Given the description of an element on the screen output the (x, y) to click on. 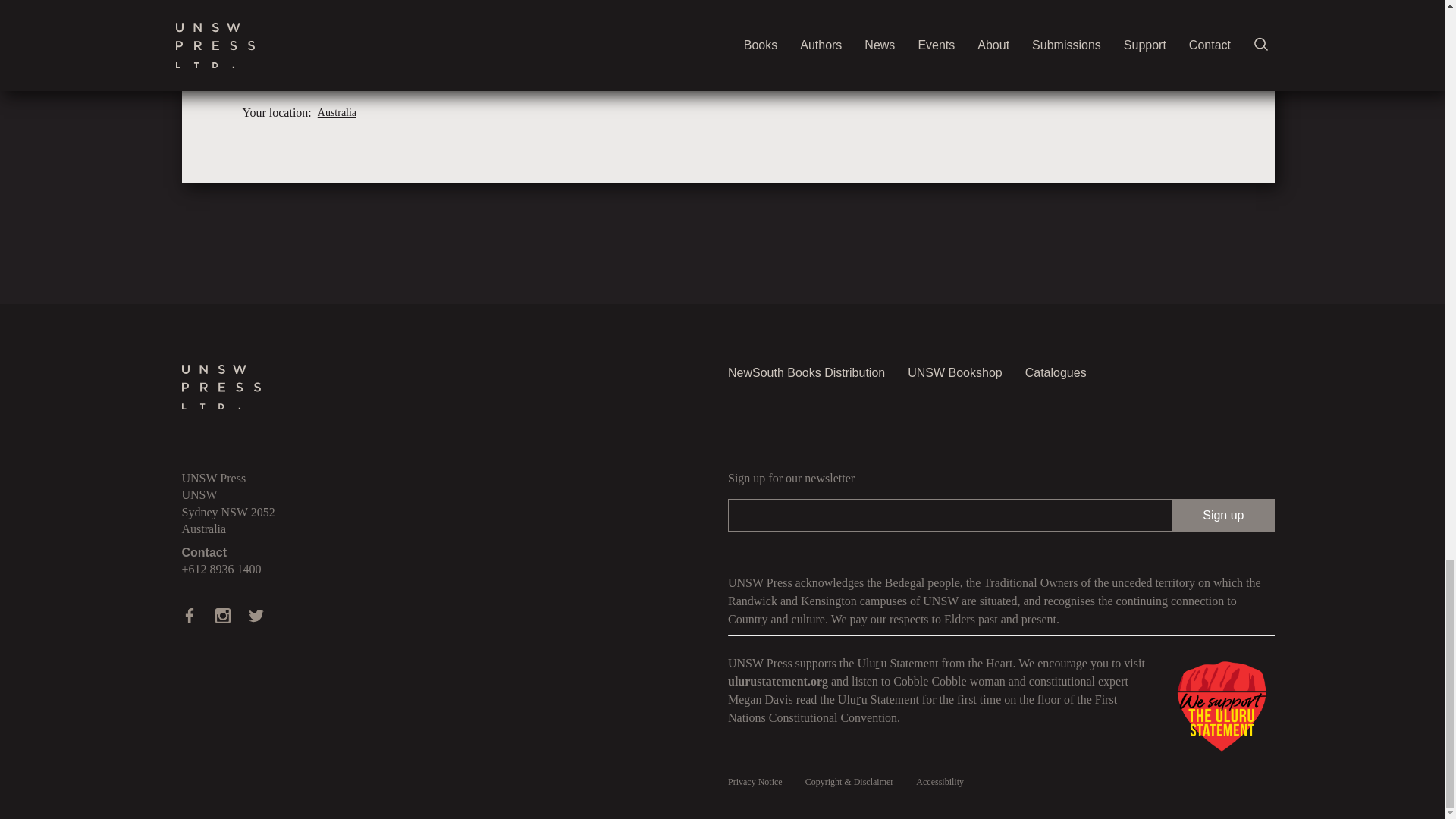
NewSouth Books Distribution (806, 372)
Abbey's (394, 12)
Amazon (394, 52)
USHF Logo (1220, 707)
UNSW Bookshop (955, 372)
Find us on Facebook (189, 615)
Follow us on Twitter (255, 615)
Catalogues (1055, 372)
Follow us on Instagram (222, 615)
